Given the description of an element on the screen output the (x, y) to click on. 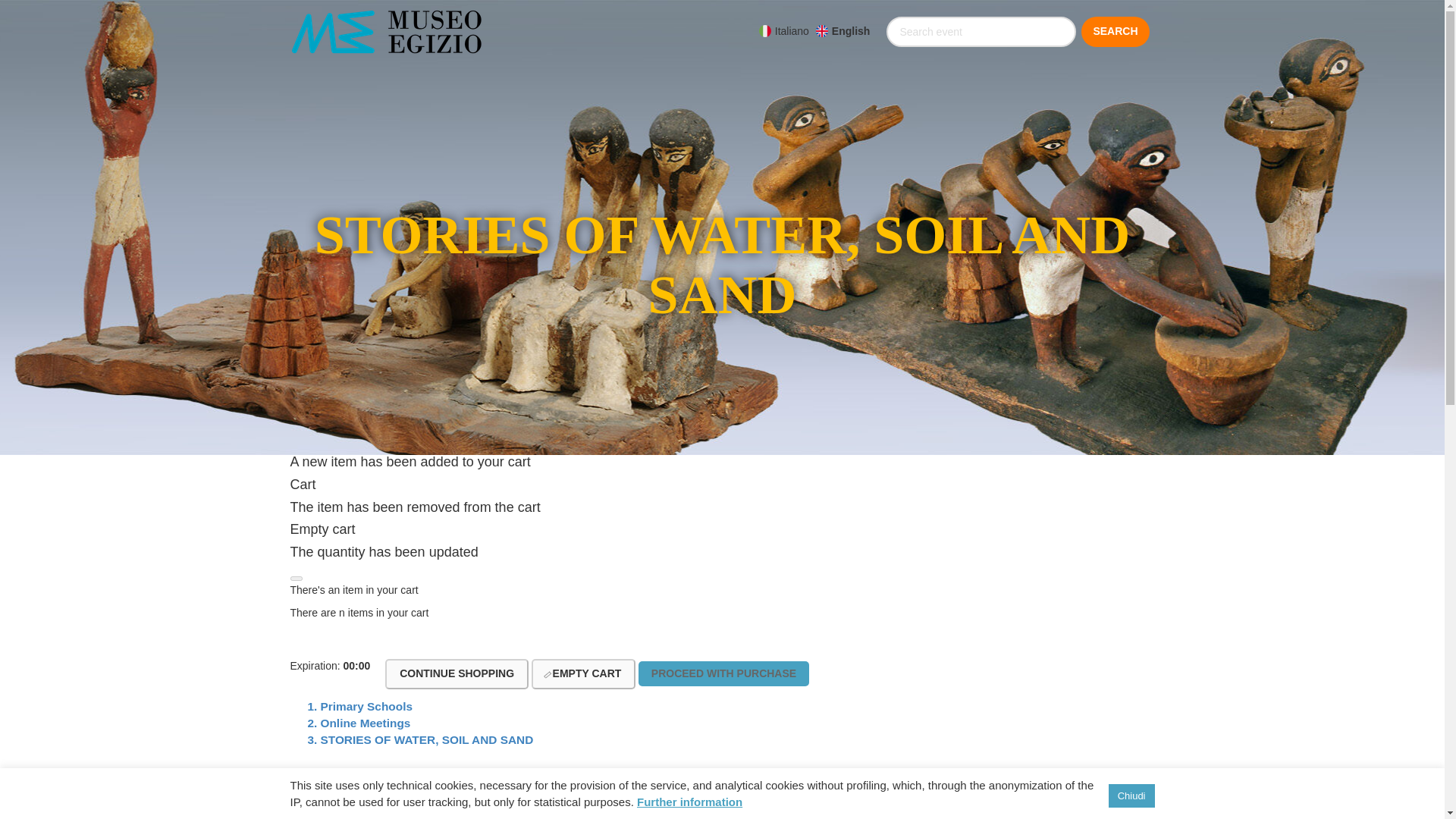
Chiudi (1131, 795)
CONTINUE SHOPPING (456, 674)
Italiano (783, 30)
PROCEED WITH PURCHASE (724, 673)
English (842, 30)
SEARCH (1114, 31)
SEARCH (1114, 31)
EMPTY CART (582, 674)
Further information (689, 801)
Primary Schools (366, 706)
Online Meetings (365, 722)
